Given the description of an element on the screen output the (x, y) to click on. 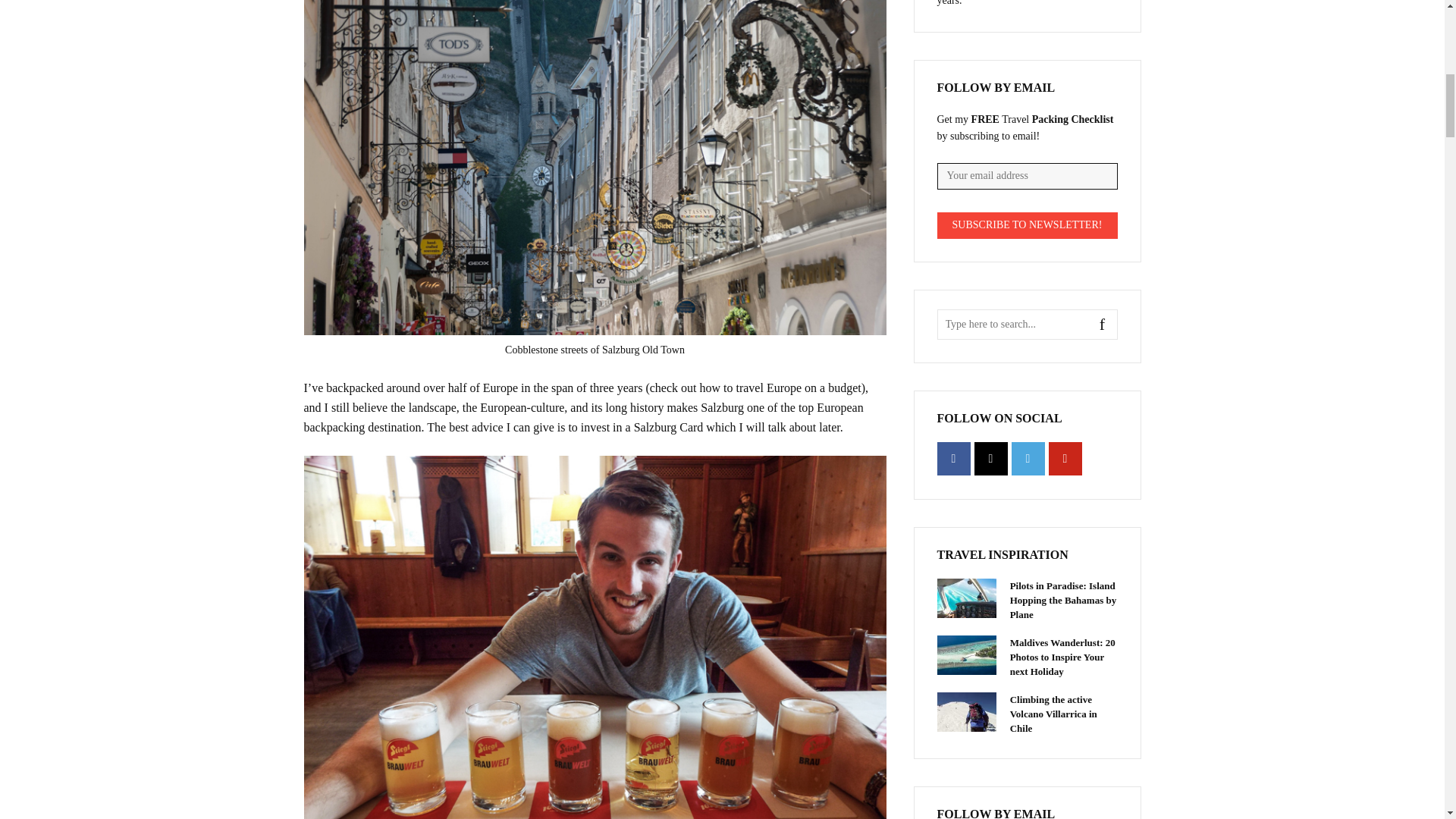
Climbing the active Volcano Villarrica in Chile (966, 712)
Pinterest (1064, 458)
Facebook (954, 458)
Maldives Wanderlust: 20 Photos to Inspire Your next Holiday (966, 654)
Instagram (990, 458)
Twitter (1028, 458)
Pilots in Paradise: Island Hopping the Bahamas by Plane (966, 598)
SUBSCRIBE TO NEWSLETTER! (1027, 225)
